Given the description of an element on the screen output the (x, y) to click on. 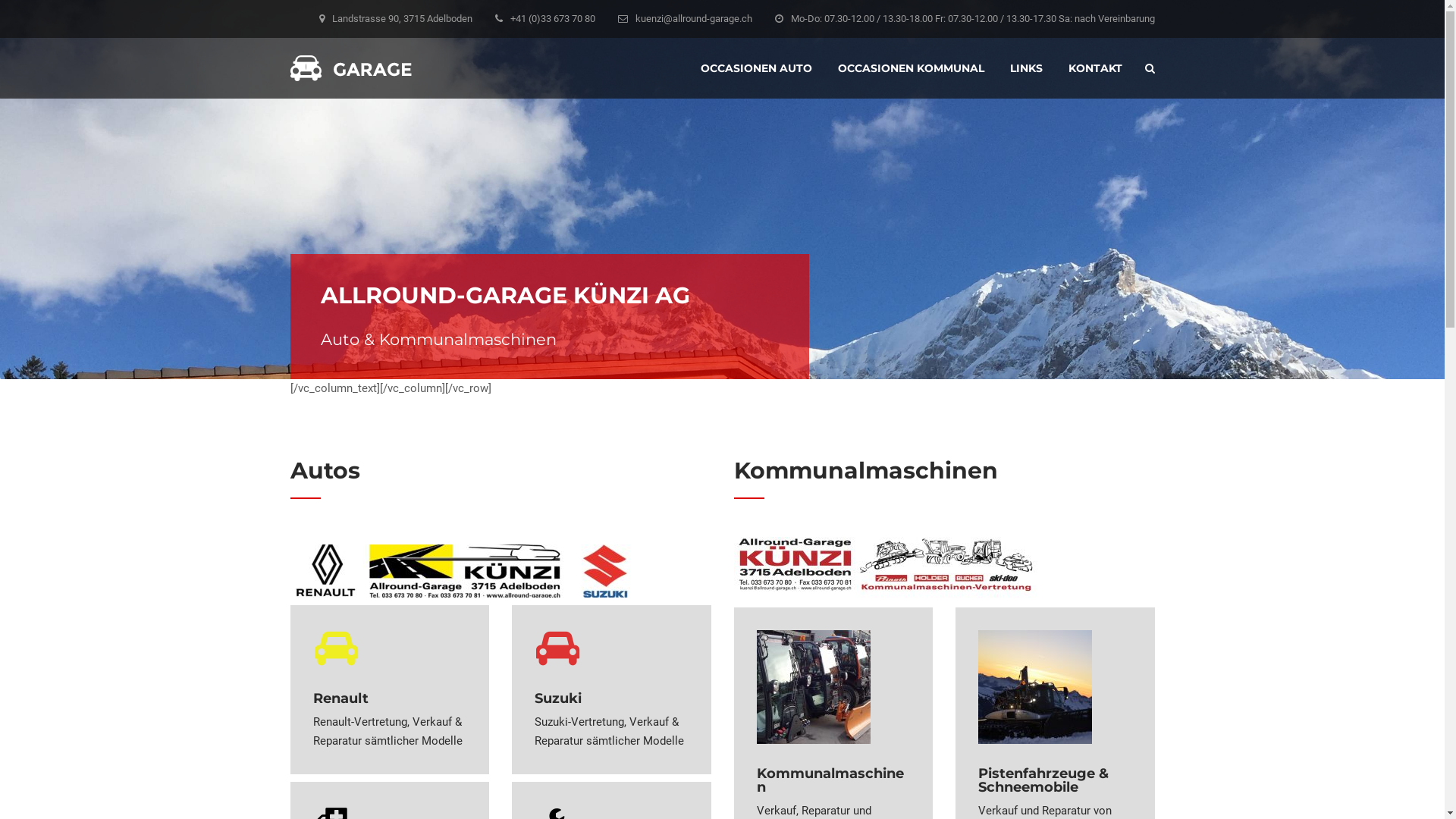
KONTAKT Element type: text (1094, 68)
kuenzi@allround-garage.ch Element type: text (693, 18)
OCCASIONEN AUTO Element type: text (756, 68)
OCCASIONEN KOMMUNAL Element type: text (910, 68)
briefkopf_auto_neu Element type: hover (459, 570)
LINKS Element type: text (1026, 68)
Renault Element type: hover (389, 647)
Suzuki Element type: hover (611, 647)
kommunal2 Element type: hover (885, 566)
